Given the description of an element on the screen output the (x, y) to click on. 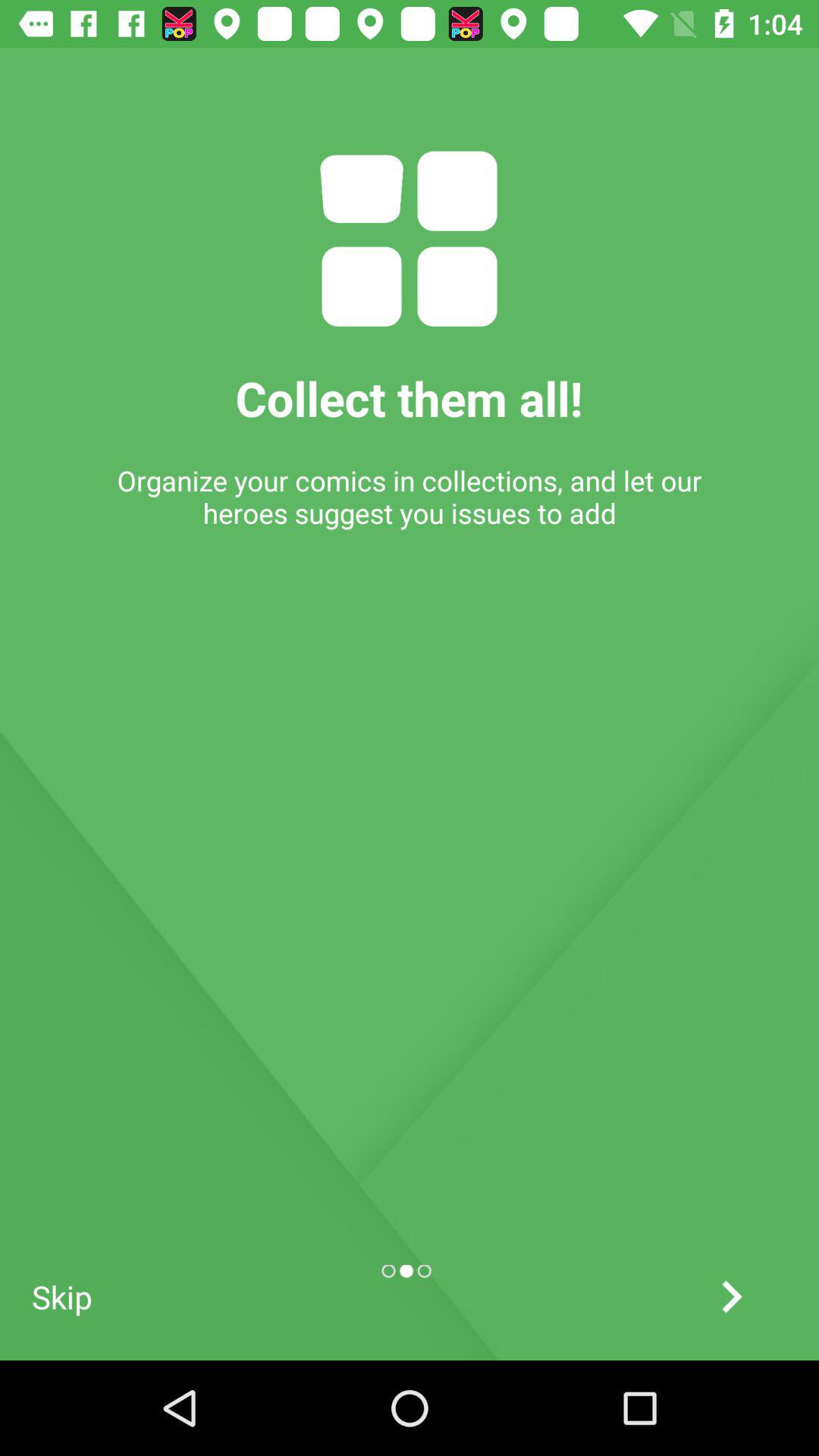
view next screen (731, 1296)
